Given the description of an element on the screen output the (x, y) to click on. 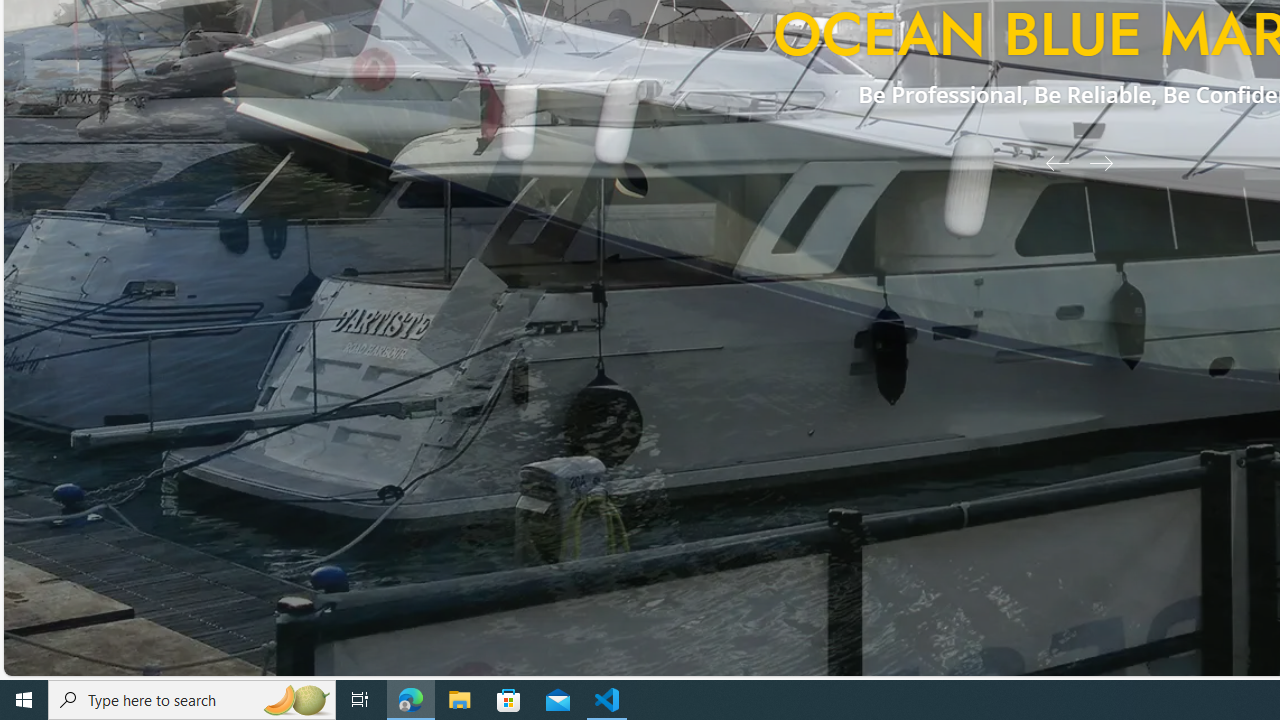
Previous Slide (1050, 161)
Next Slide (1108, 161)
